Given the description of an element on the screen output the (x, y) to click on. 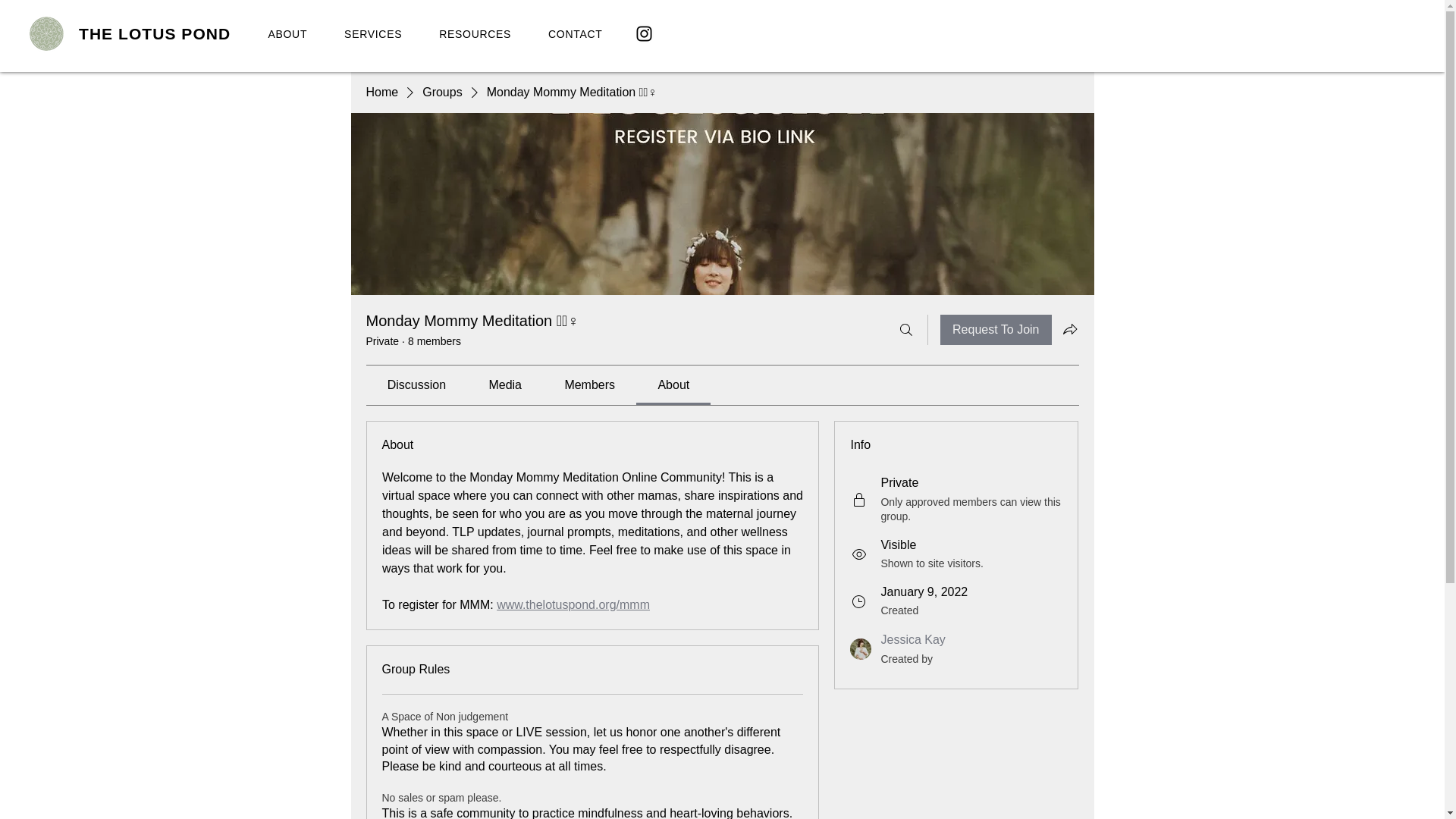
ABOUT (287, 33)
Jessica Kay  (860, 649)
Home (381, 92)
RESOURCES (475, 33)
THE LOTUS POND  (435, 33)
Jessica Kay (156, 33)
Request To Join (912, 639)
Groups (995, 329)
CONTACT (441, 92)
